Given the description of an element on the screen output the (x, y) to click on. 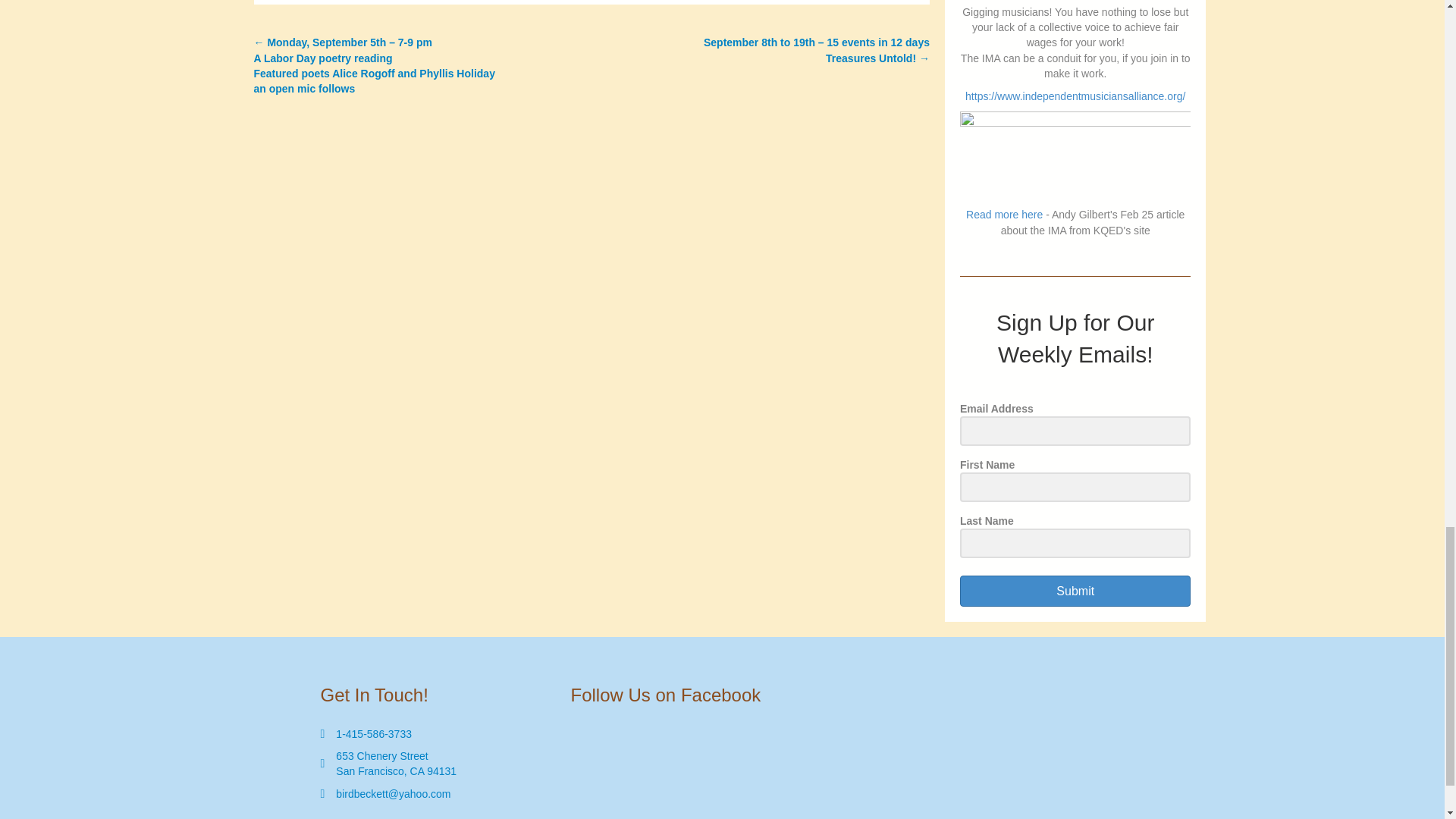
Submit (1075, 590)
1-415-586-3733 (396, 763)
Read more here (374, 734)
